Given the description of an element on the screen output the (x, y) to click on. 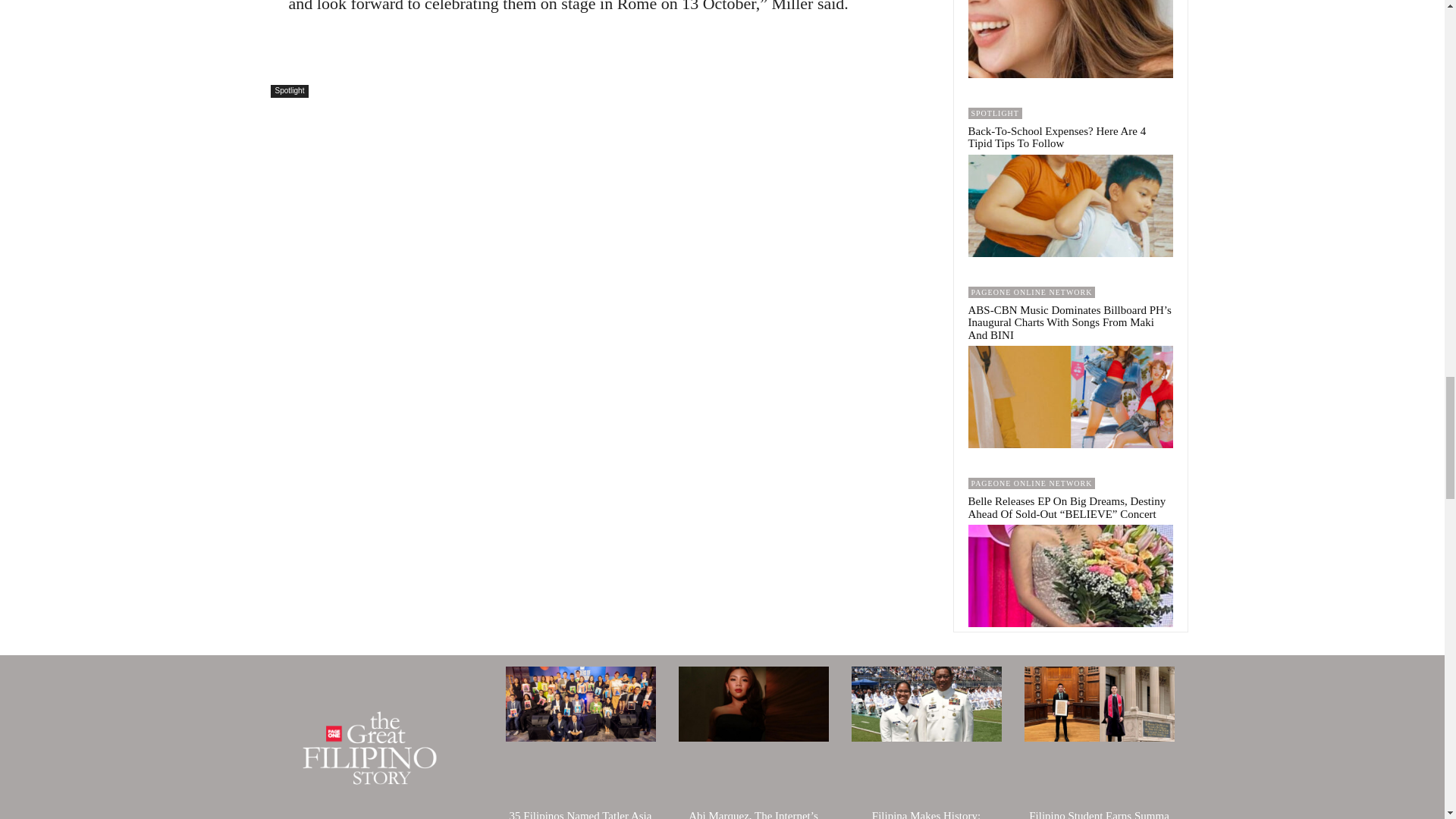
Spotlight (288, 91)
